Given the description of an element on the screen output the (x, y) to click on. 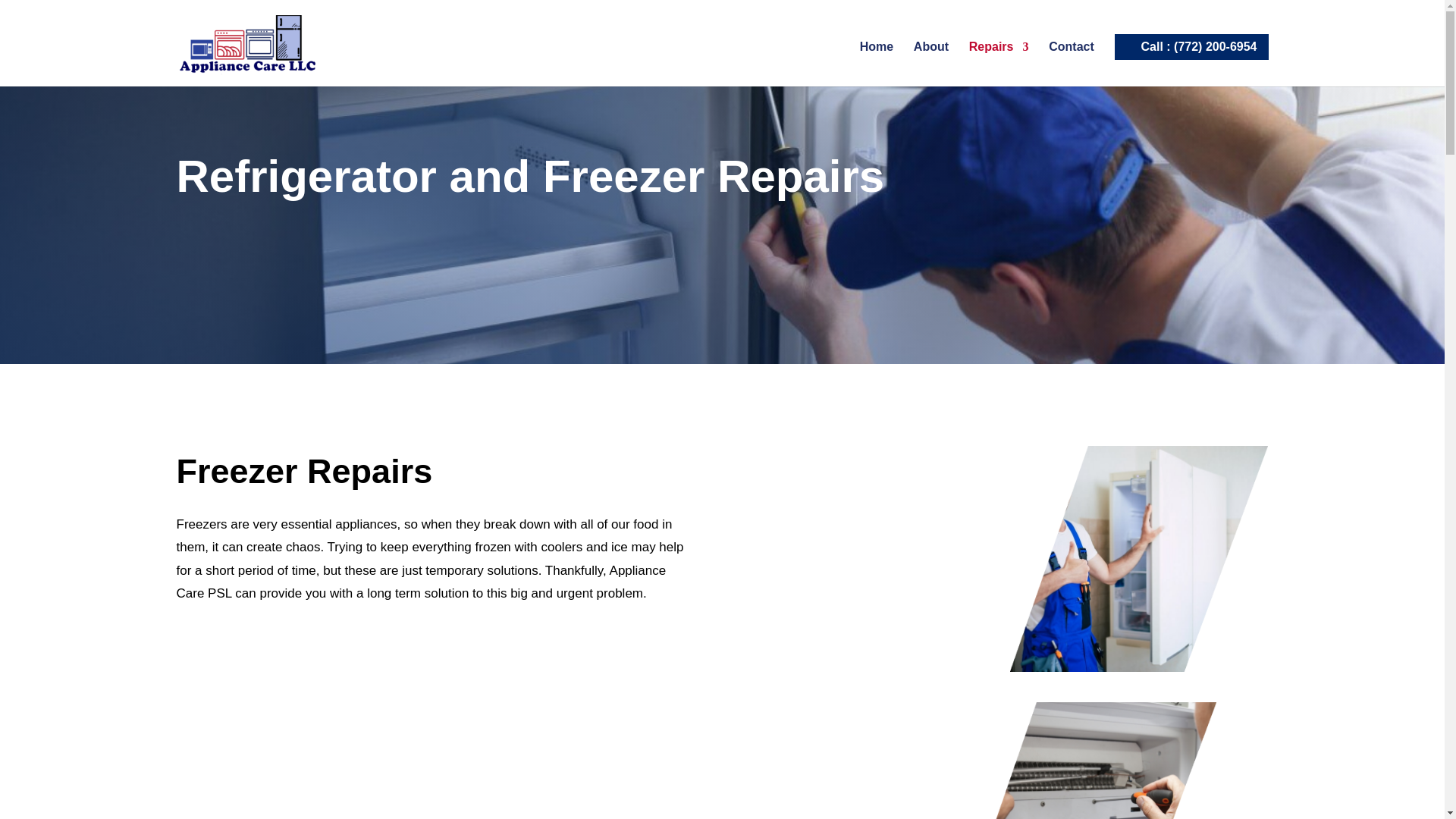
Contact (1071, 63)
freezerthree (1086, 760)
freezer (881, 651)
Repairs (999, 63)
freezertwo-min (1139, 558)
